Given the description of an element on the screen output the (x, y) to click on. 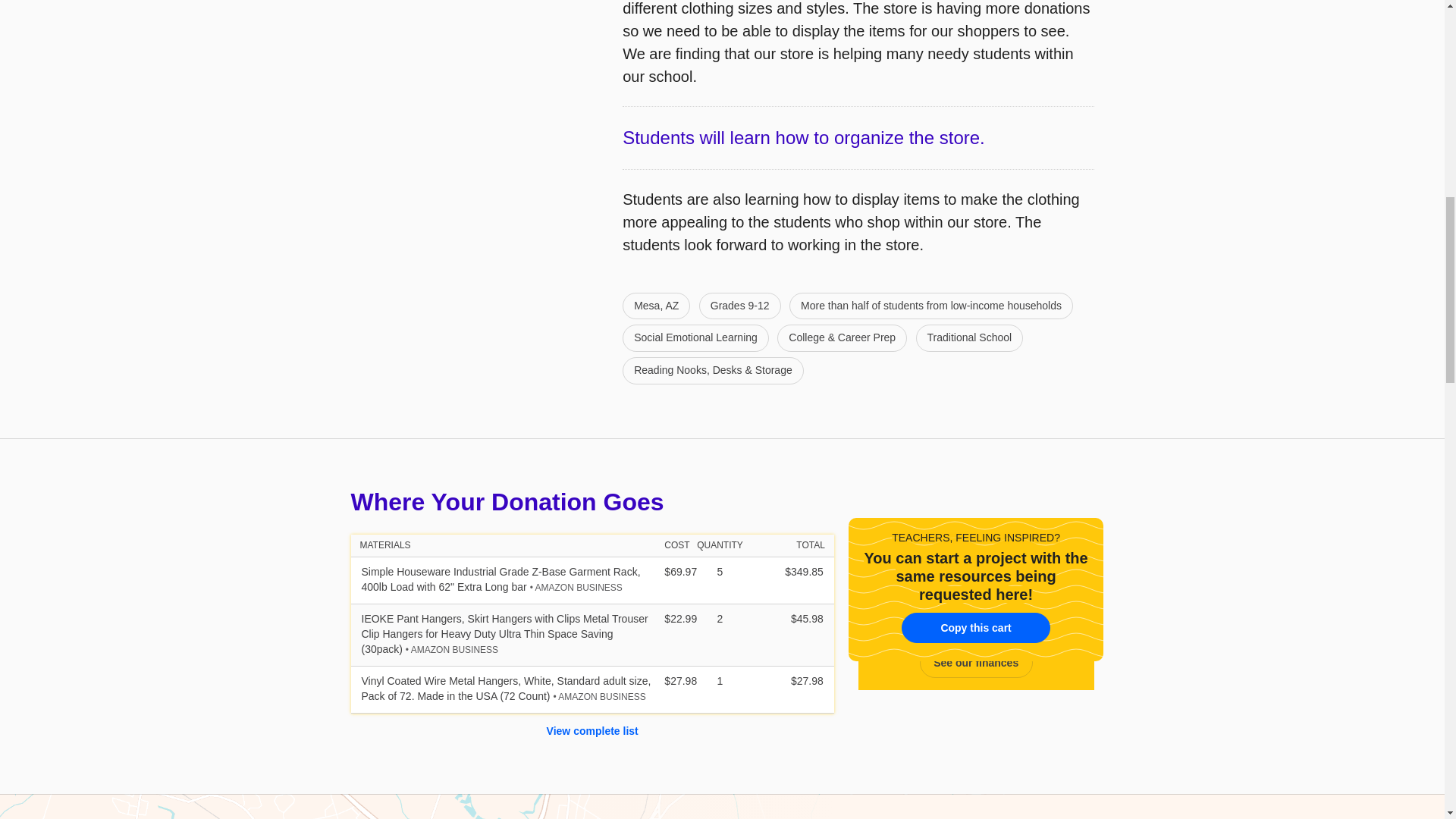
See other Traditional projects (969, 338)
